Given the description of an element on the screen output the (x, y) to click on. 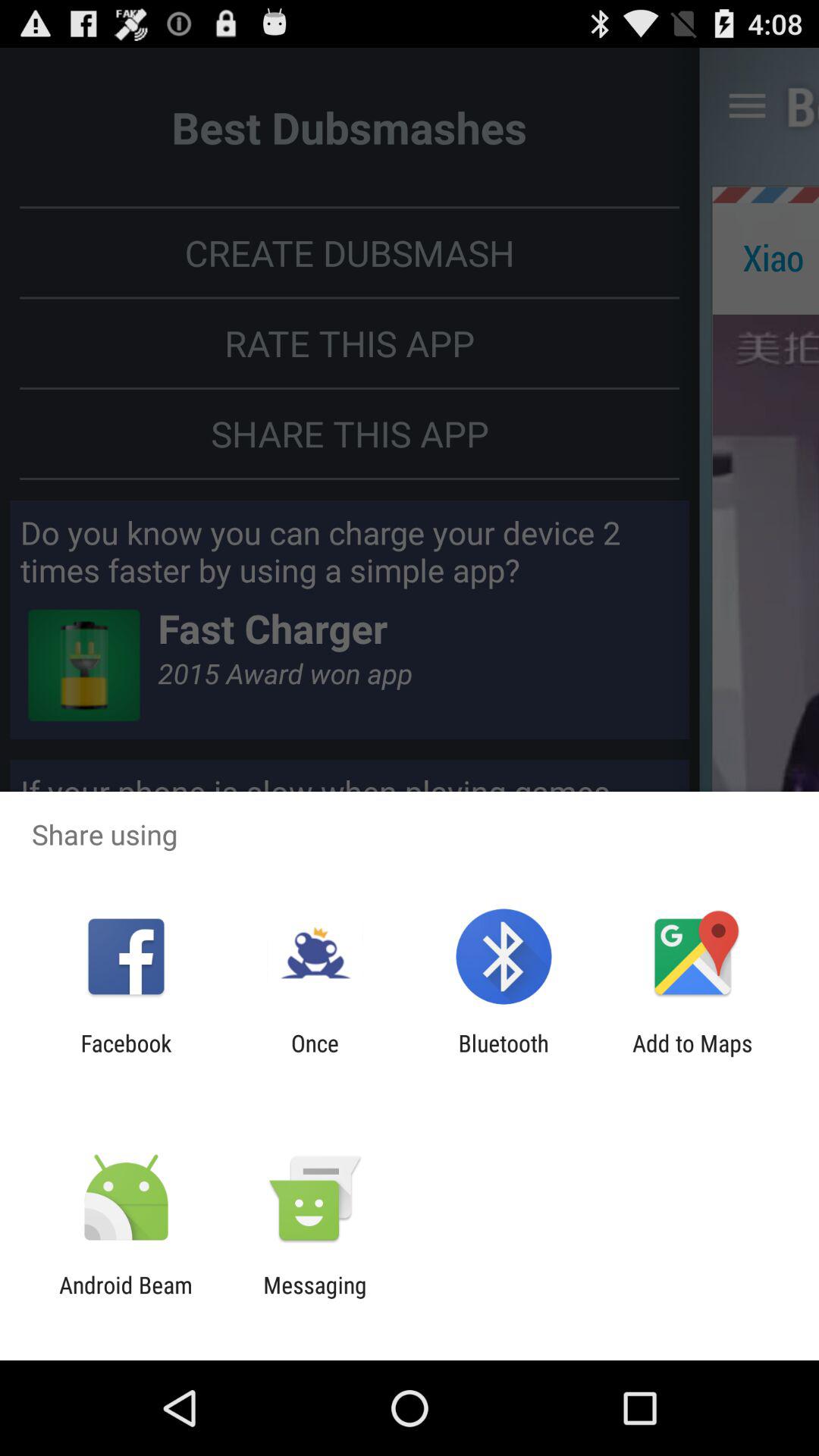
open item next to android beam item (314, 1298)
